Given the description of an element on the screen output the (x, y) to click on. 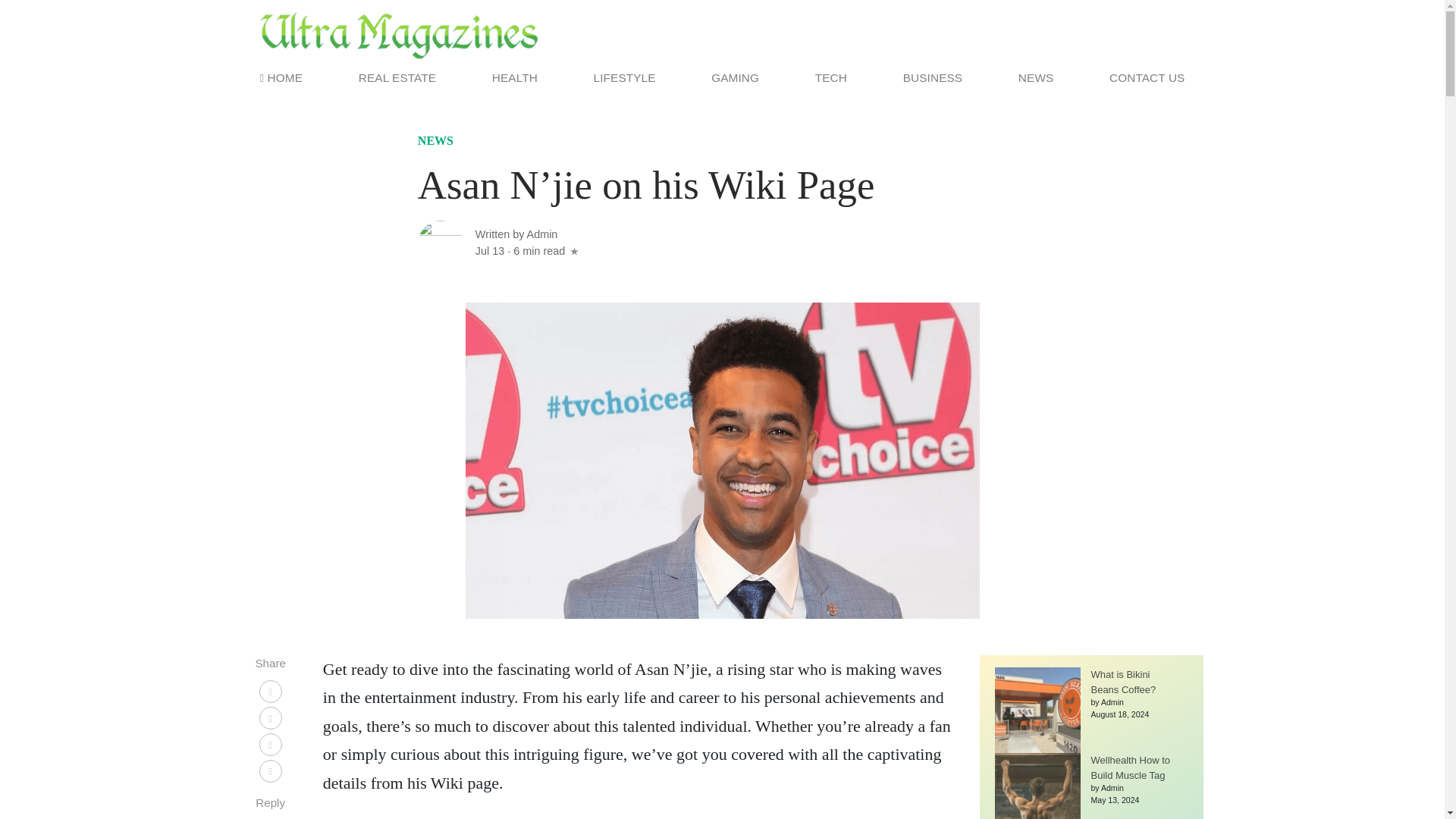
LIFESTYLE (625, 77)
Wellhealth How to Build Muscle Tag (1130, 767)
GAMING (734, 77)
REAL ESTATE (397, 77)
NEWS (434, 142)
CONTACT US (1144, 77)
What is Bikini Beans Coffee? (1123, 682)
BUSINESS (932, 77)
HEALTH (514, 77)
Written by Admin (516, 234)
